Given the description of an element on the screen output the (x, y) to click on. 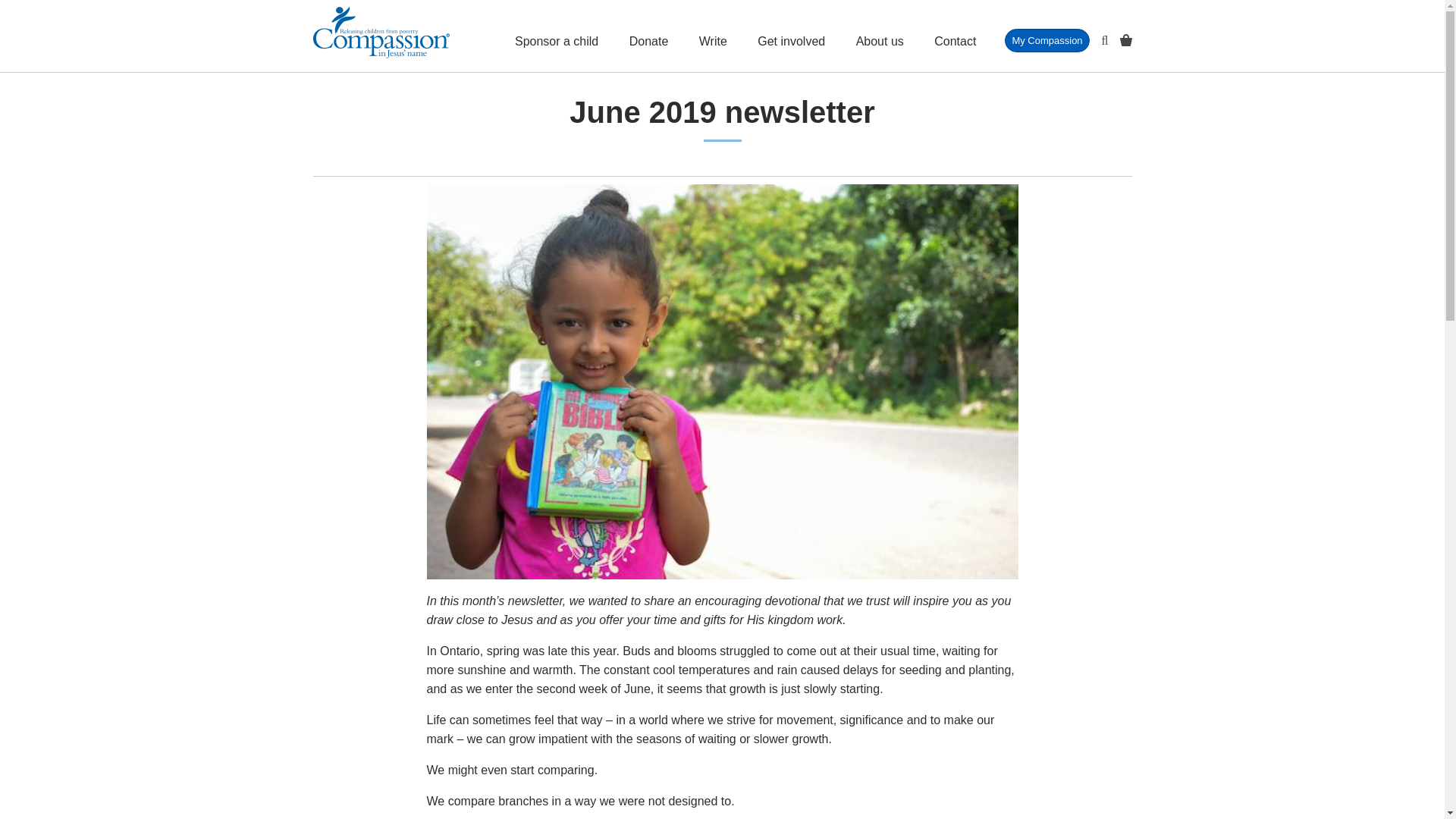
Sponsor a child (556, 36)
Compassion Canada (380, 32)
Get involved (791, 36)
My Compassion (1046, 40)
